Given the description of an element on the screen output the (x, y) to click on. 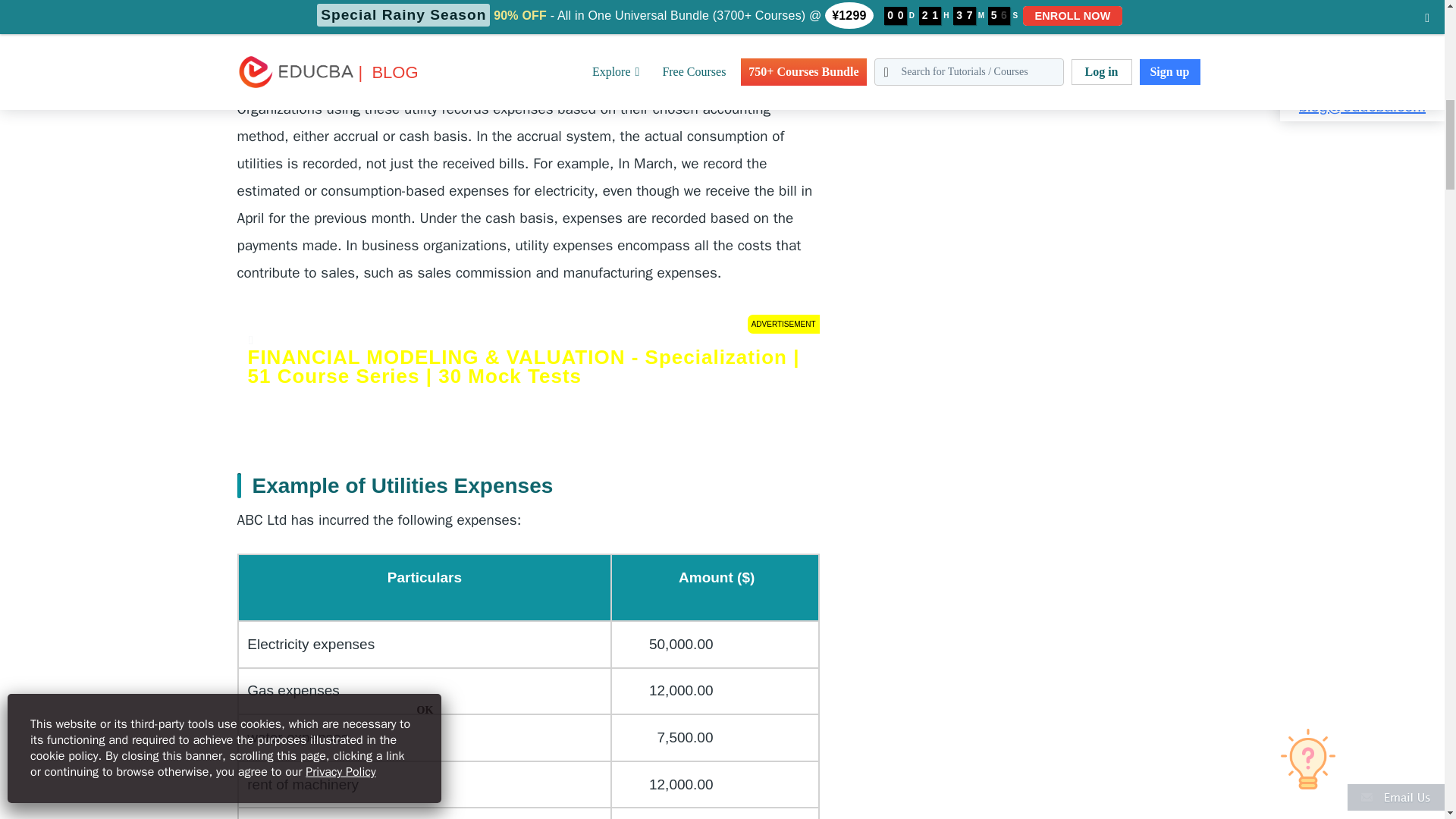
Advertisement (1000, 77)
